Given the description of an element on the screen output the (x, y) to click on. 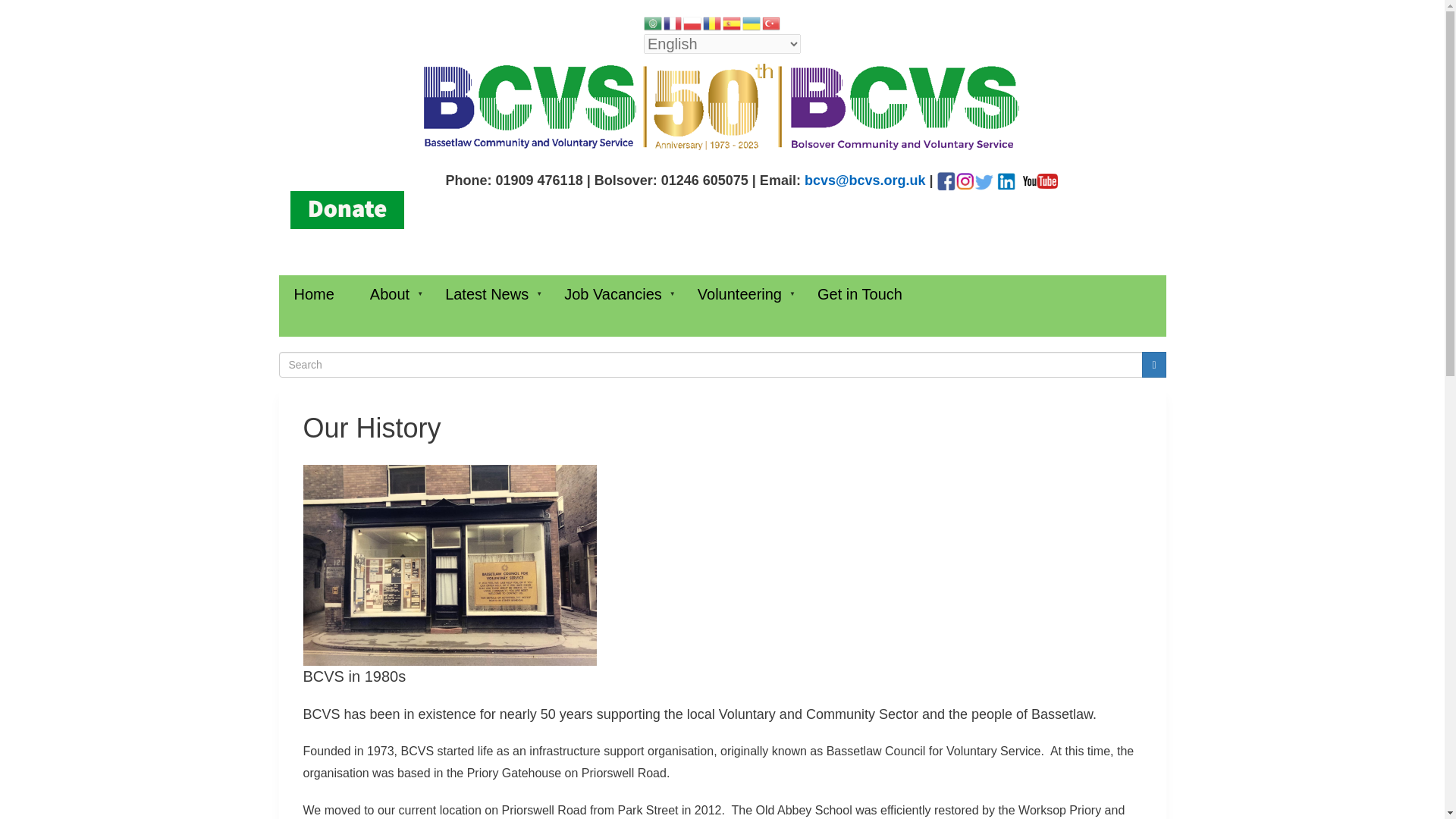
Romanian (712, 21)
Turkish (771, 21)
Get in Touch (862, 294)
Home (317, 294)
French (672, 21)
Arabic (653, 21)
Spanish (732, 21)
Search (1153, 364)
Ukrainian (751, 21)
Polish (692, 21)
Home (722, 106)
